Given the description of an element on the screen output the (x, y) to click on. 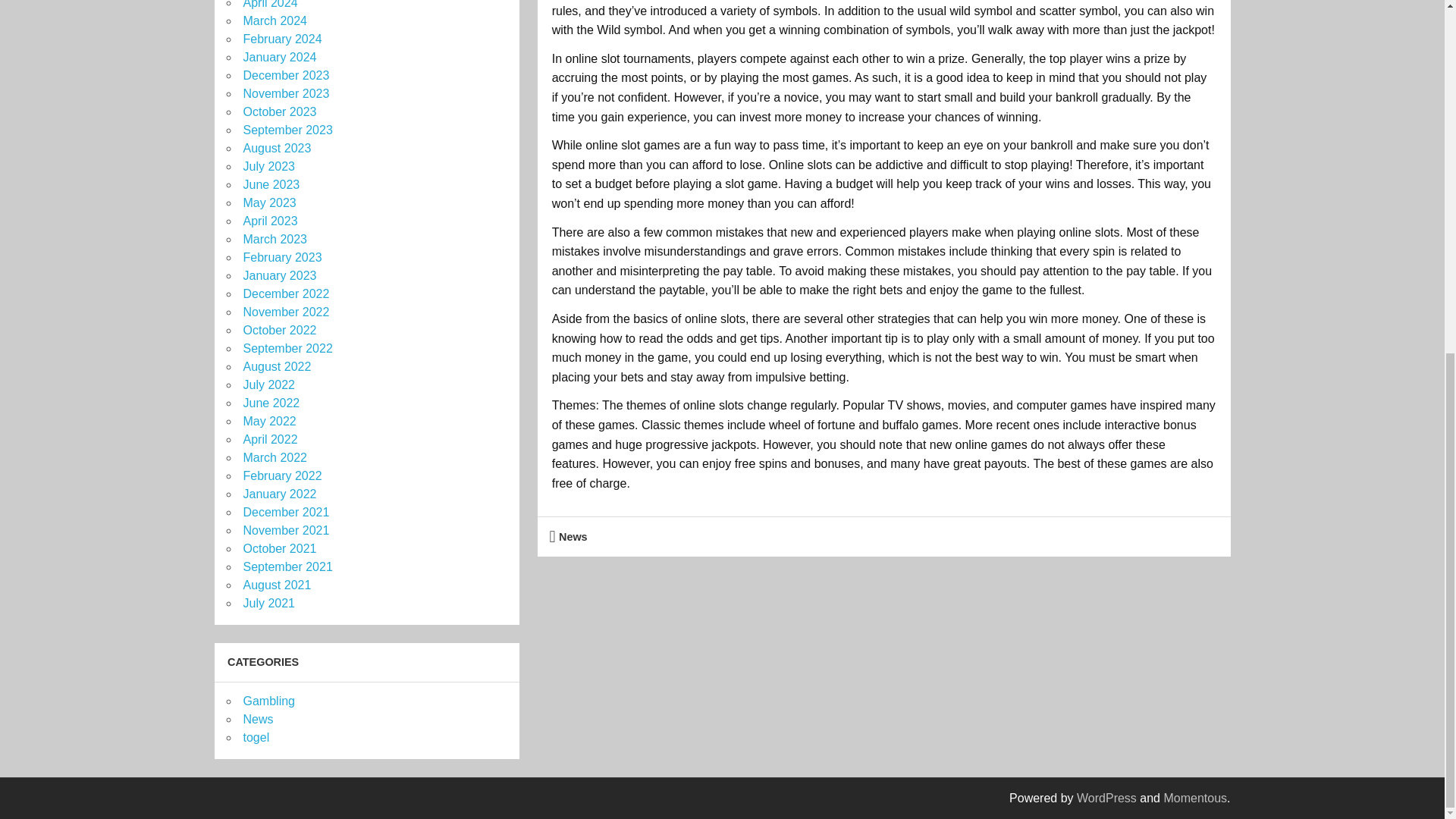
September 2022 (287, 348)
June 2023 (271, 184)
March 2023 (275, 238)
May 2022 (269, 420)
July 2023 (269, 165)
News (573, 535)
November 2022 (286, 311)
June 2022 (271, 402)
August 2022 (277, 366)
April 2023 (270, 220)
February 2023 (282, 256)
August 2023 (277, 147)
September 2023 (287, 129)
December 2022 (286, 293)
November 2023 (286, 92)
